Given the description of an element on the screen output the (x, y) to click on. 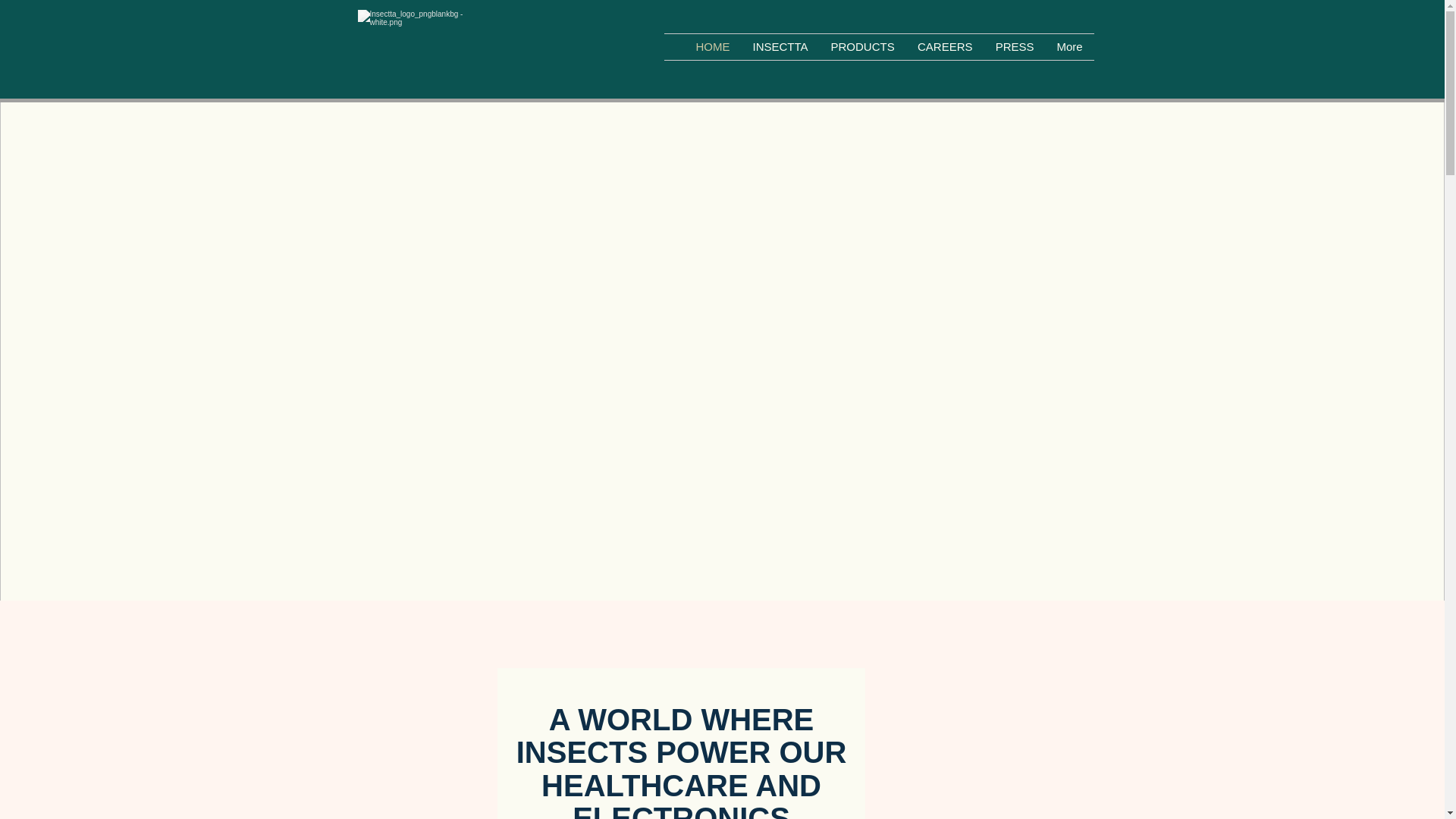
PRODUCTS (861, 46)
CAREERS (944, 46)
HOME (712, 46)
INSECTTA (780, 46)
PRESS (1014, 46)
